Given the description of an element on the screen output the (x, y) to click on. 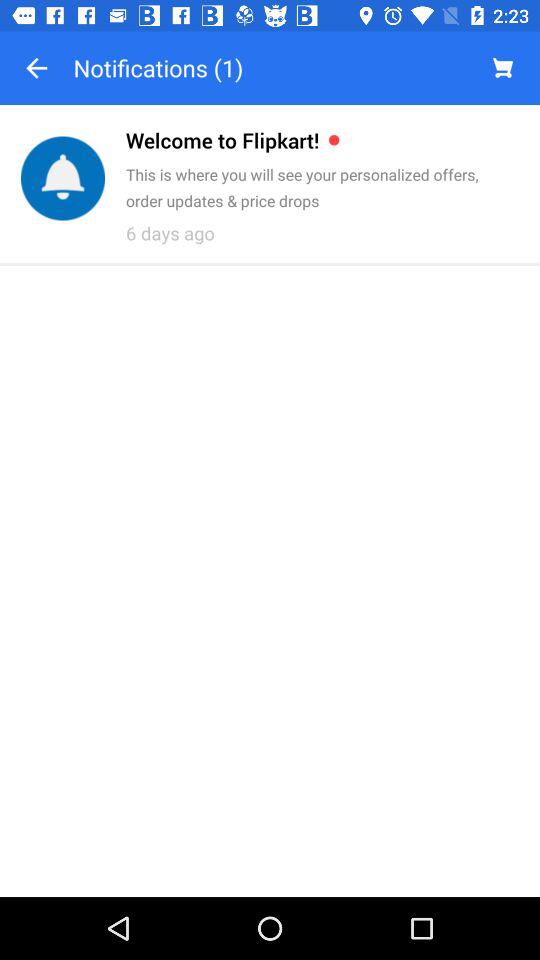
click the icon next to notifications (1) (36, 68)
